Given the description of an element on the screen output the (x, y) to click on. 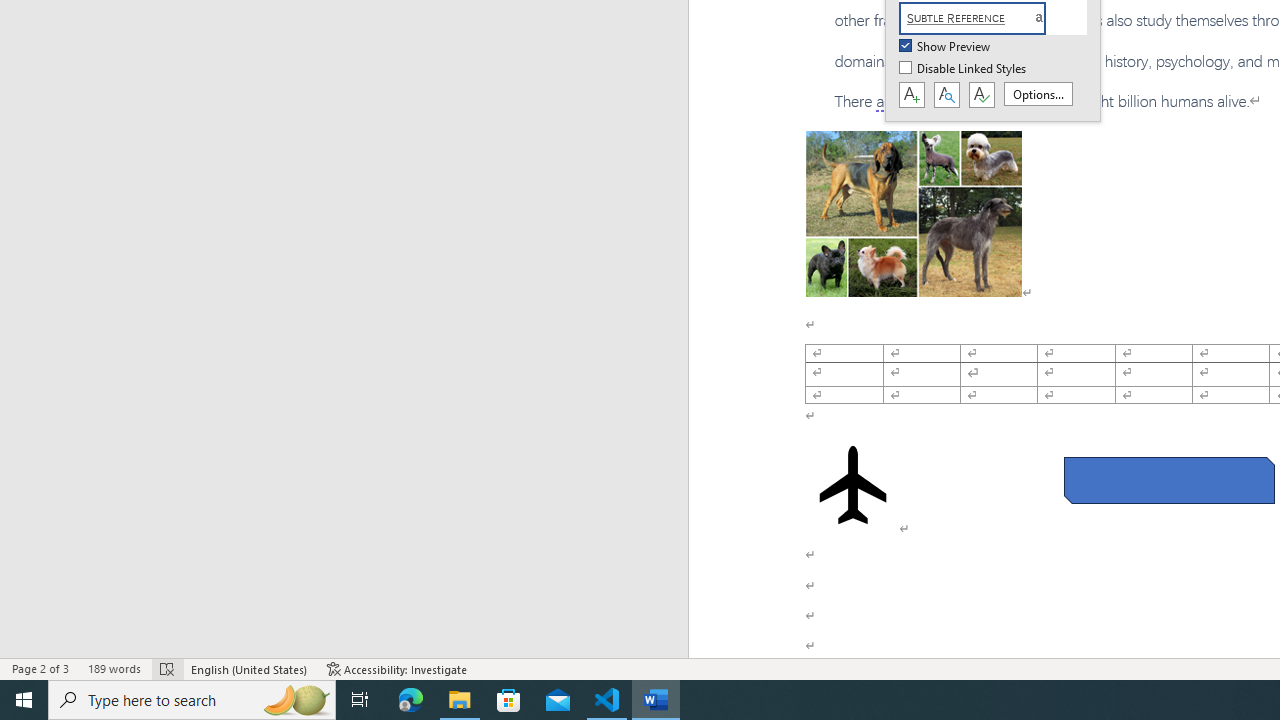
Class: NetUIButton (981, 95)
Page Number Page 2 of 3 (39, 668)
Subtle Reference (984, 18)
Disable Linked Styles (964, 69)
Rectangle: Diagonal Corners Snipped 2 (1168, 480)
Options... (1037, 93)
Show Preview (946, 47)
